Given the description of an element on the screen output the (x, y) to click on. 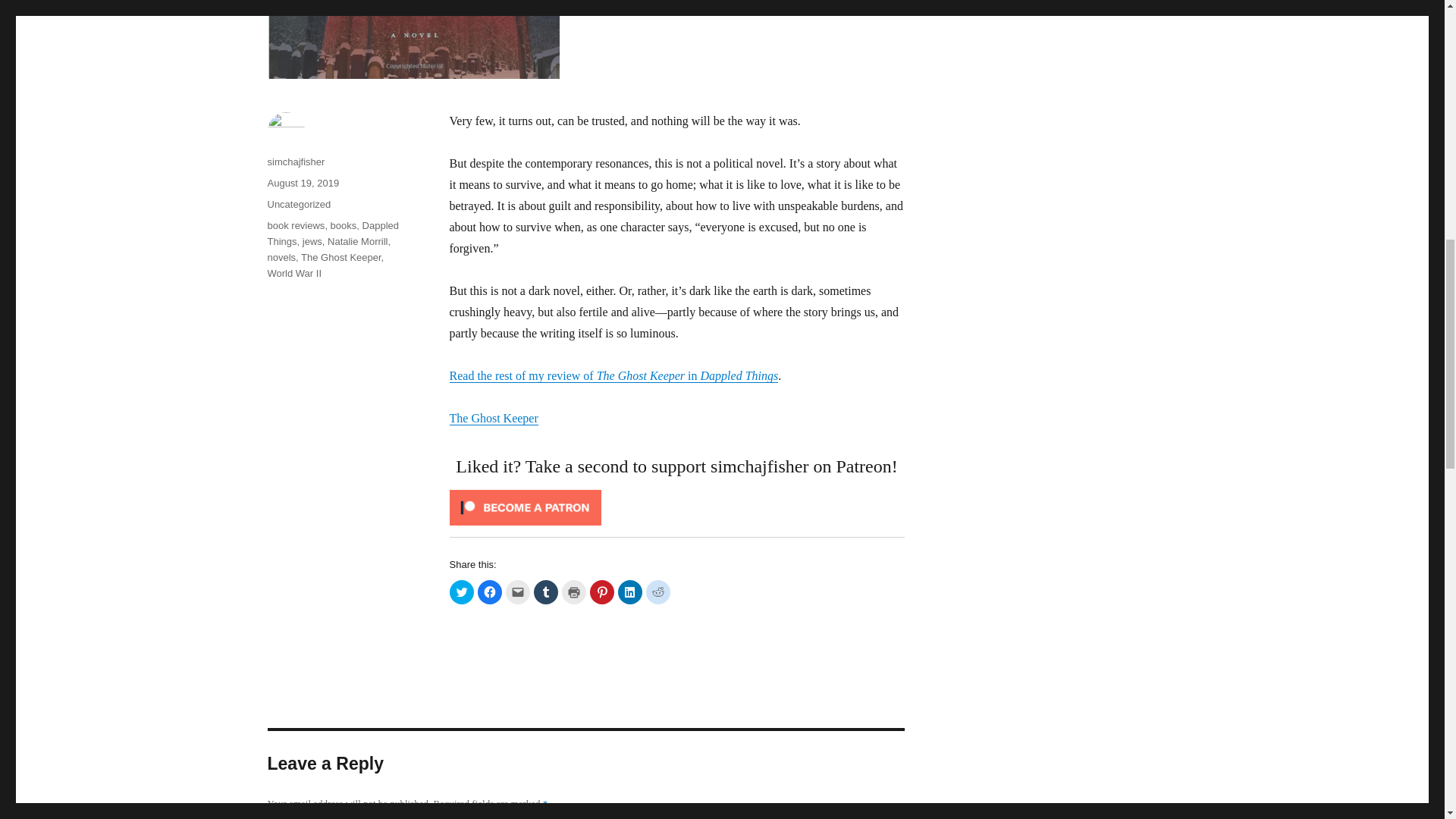
Click to share on LinkedIn (629, 591)
novels (280, 256)
simchajfisher (295, 161)
Dappled Things (331, 233)
Click to share on Facebook (489, 591)
The Ghost Keeper (492, 418)
Uncategorized (298, 204)
Click to share on Reddit (657, 591)
Click to share on Tumblr (545, 591)
Click to share on Pinterest (601, 591)
book reviews (295, 225)
Click to print (572, 591)
books (343, 225)
Natalie Morrill (357, 241)
